Given the description of an element on the screen output the (x, y) to click on. 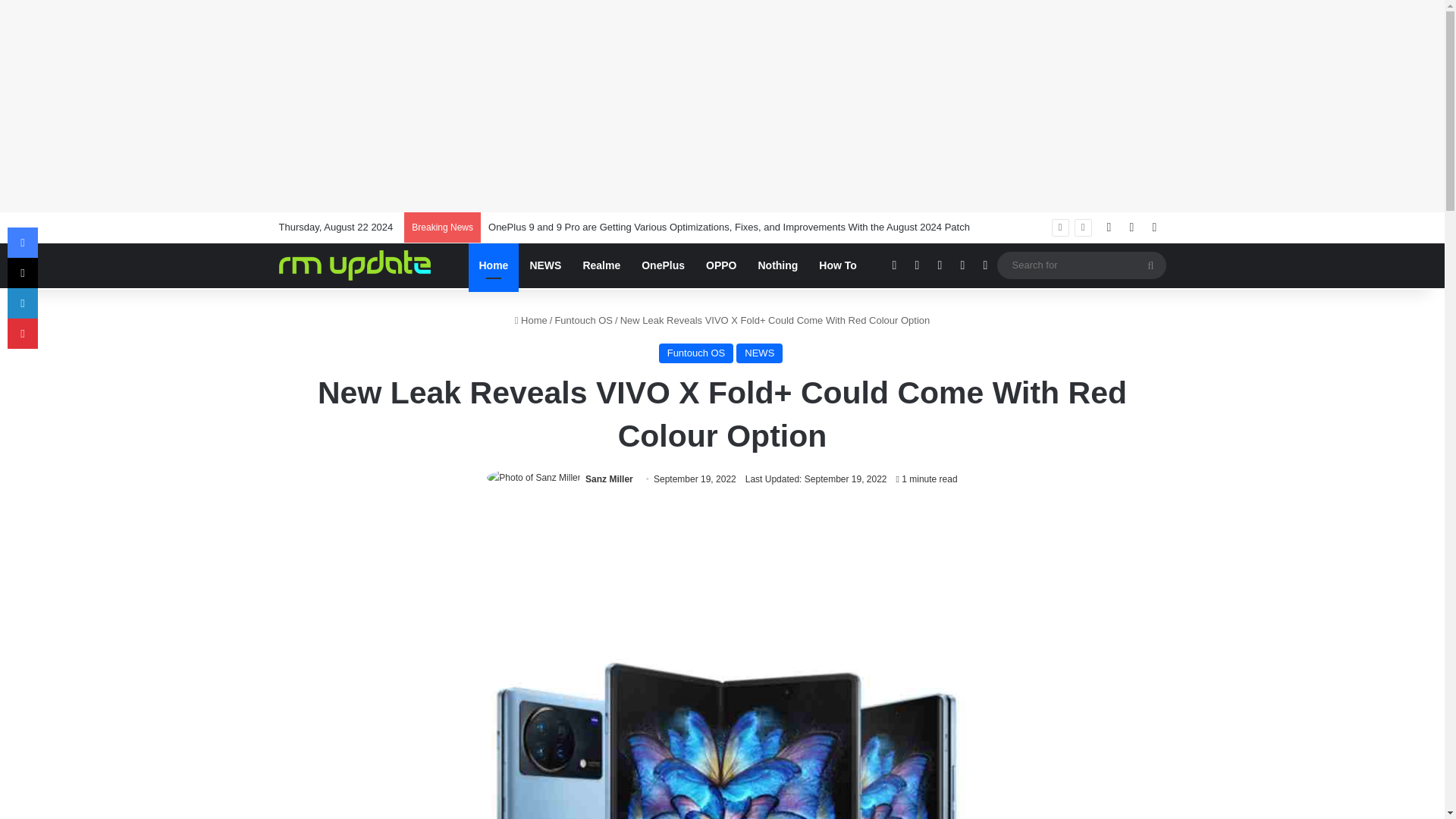
NEWS (759, 353)
Search for (1080, 264)
Home (493, 265)
How To (837, 265)
OPPO (720, 265)
Funtouch OS (583, 319)
Search for (1150, 265)
Home (531, 319)
Realme (601, 265)
